Given the description of an element on the screen output the (x, y) to click on. 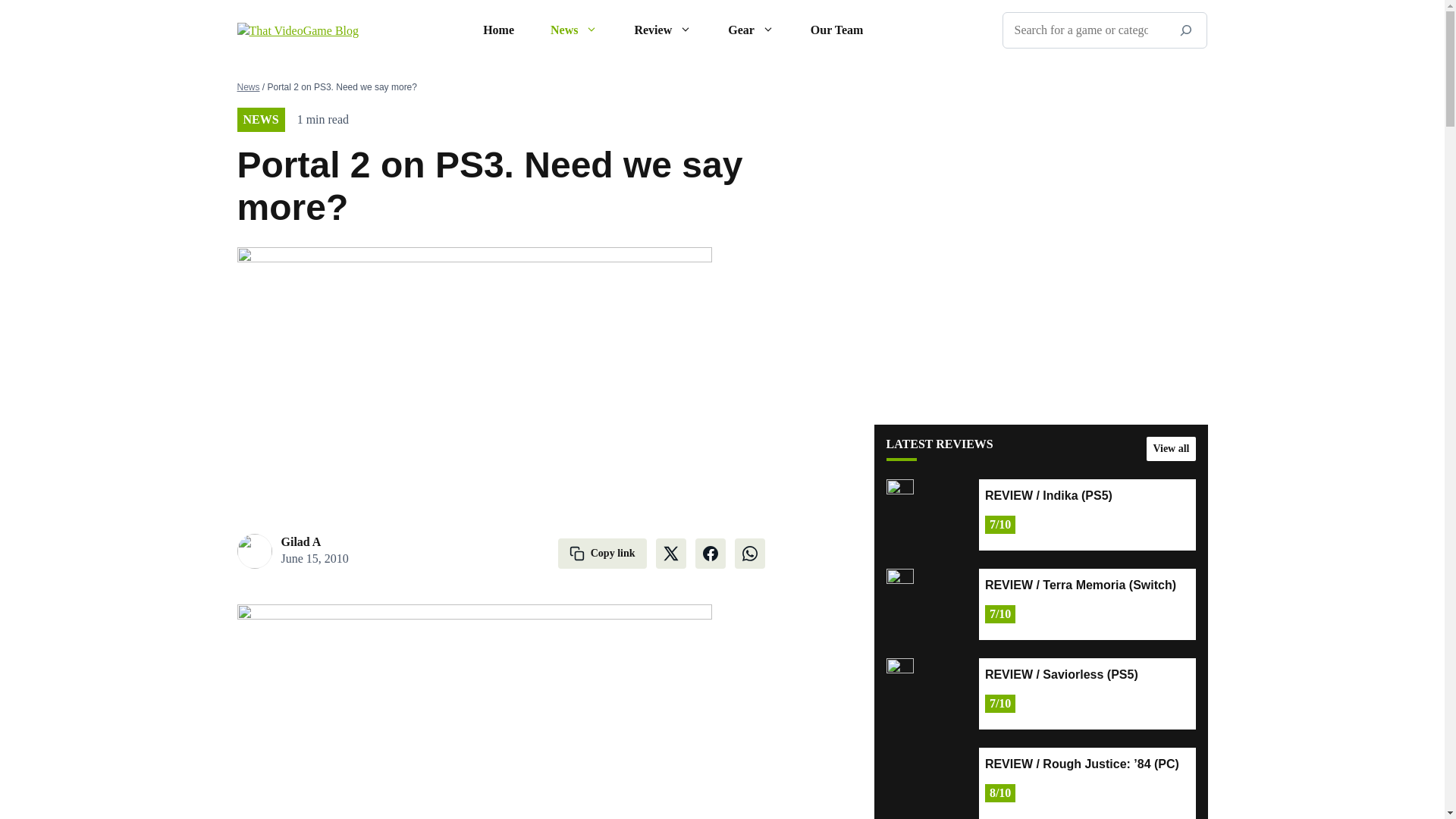
Gear (751, 29)
Home (498, 29)
News (573, 29)
Review (662, 29)
